Given the description of an element on the screen output the (x, y) to click on. 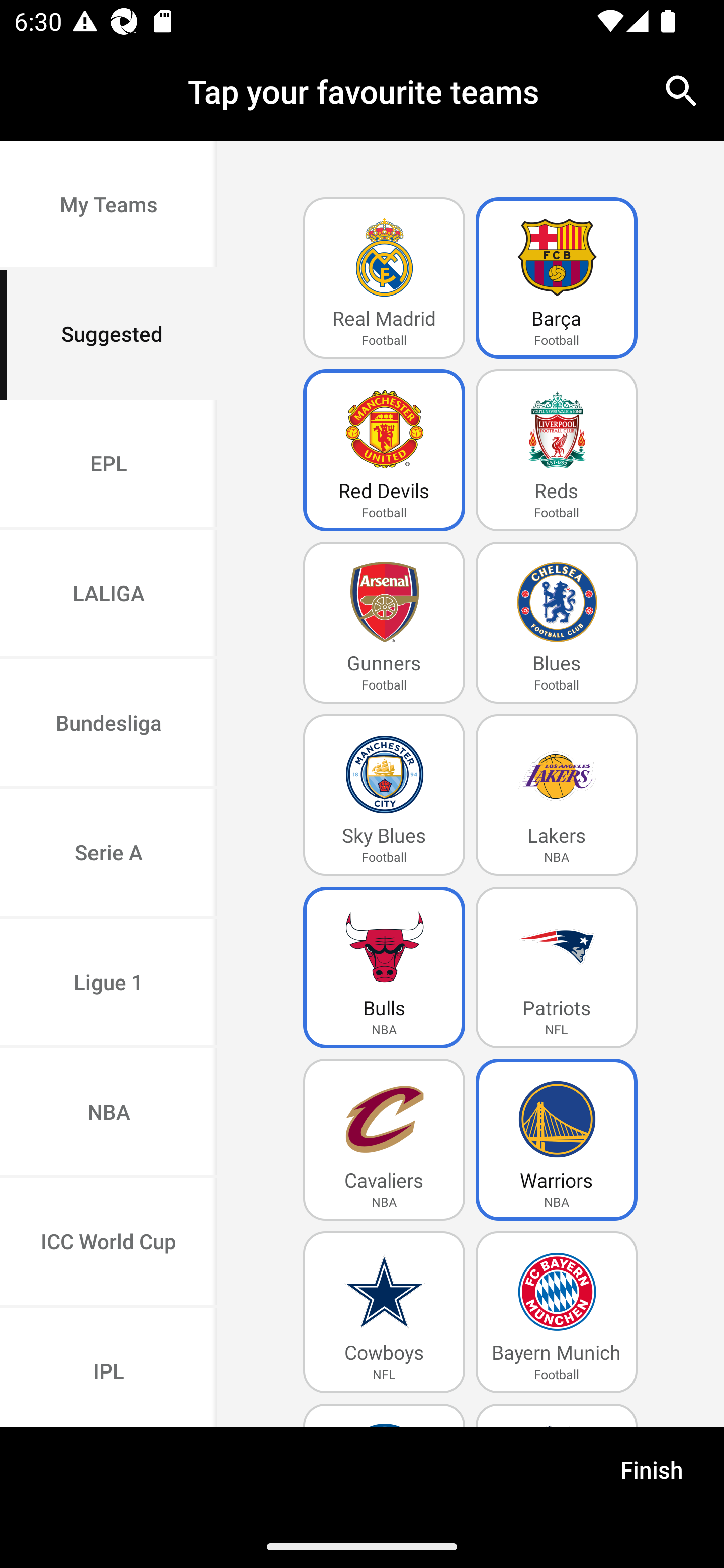
search (681, 90)
My Teams (108, 206)
Real Madrid Real Madrid Football (383, 278)
Barça BarçaSelected Football (556, 278)
Suggested (108, 334)
Red Devils Red DevilsSelected Football (383, 450)
Reds Reds Football (556, 450)
EPL (108, 464)
LALIGA (108, 594)
Gunners Gunners Football (383, 623)
Blues Blues Football (556, 623)
Bundesliga (108, 725)
Sky Blues Sky Blues Football (383, 794)
Lakers Lakers NBA (556, 794)
Serie A (108, 853)
Bulls BullsSelected NBA (383, 966)
Patriots Patriots NFL (556, 966)
Ligue 1 (108, 983)
NBA (108, 1113)
Cavaliers Cavaliers NBA (383, 1139)
Warriors WarriorsSelected NBA (556, 1139)
ICC World Cup (108, 1242)
Cowboys Cowboys NFL (383, 1311)
Bayern Munich Bayern Munich Football (556, 1311)
IPL (108, 1366)
Finish Finish and Close (651, 1475)
